Given the description of an element on the screen output the (x, y) to click on. 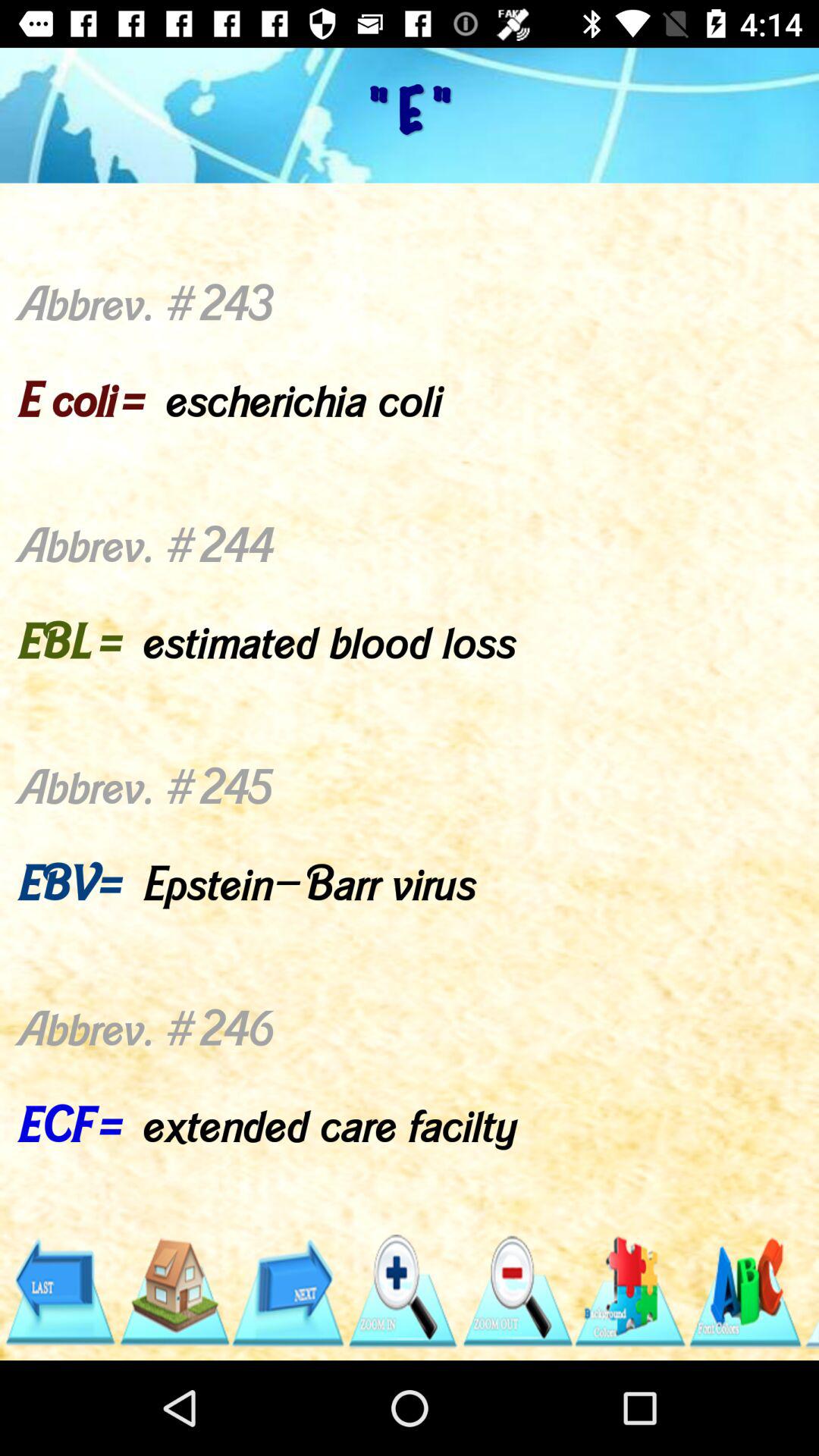
turn off item below abbrev 	243	 	e item (630, 1291)
